Given the description of an element on the screen output the (x, y) to click on. 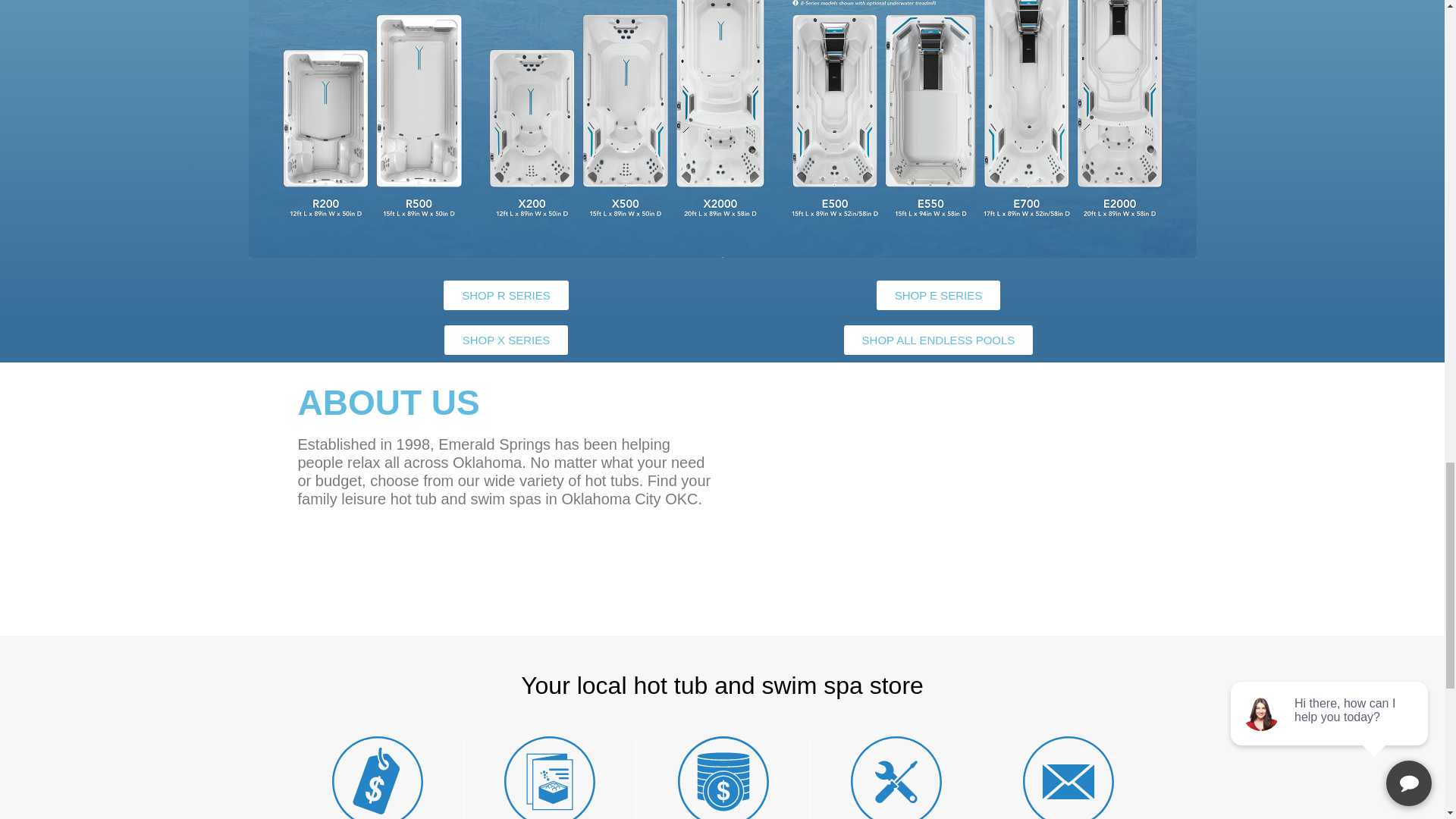
Emerald Springs Spas, 6600 NW 39th EXPY Bethany, OK 73008 (938, 498)
